Given the description of an element on the screen output the (x, y) to click on. 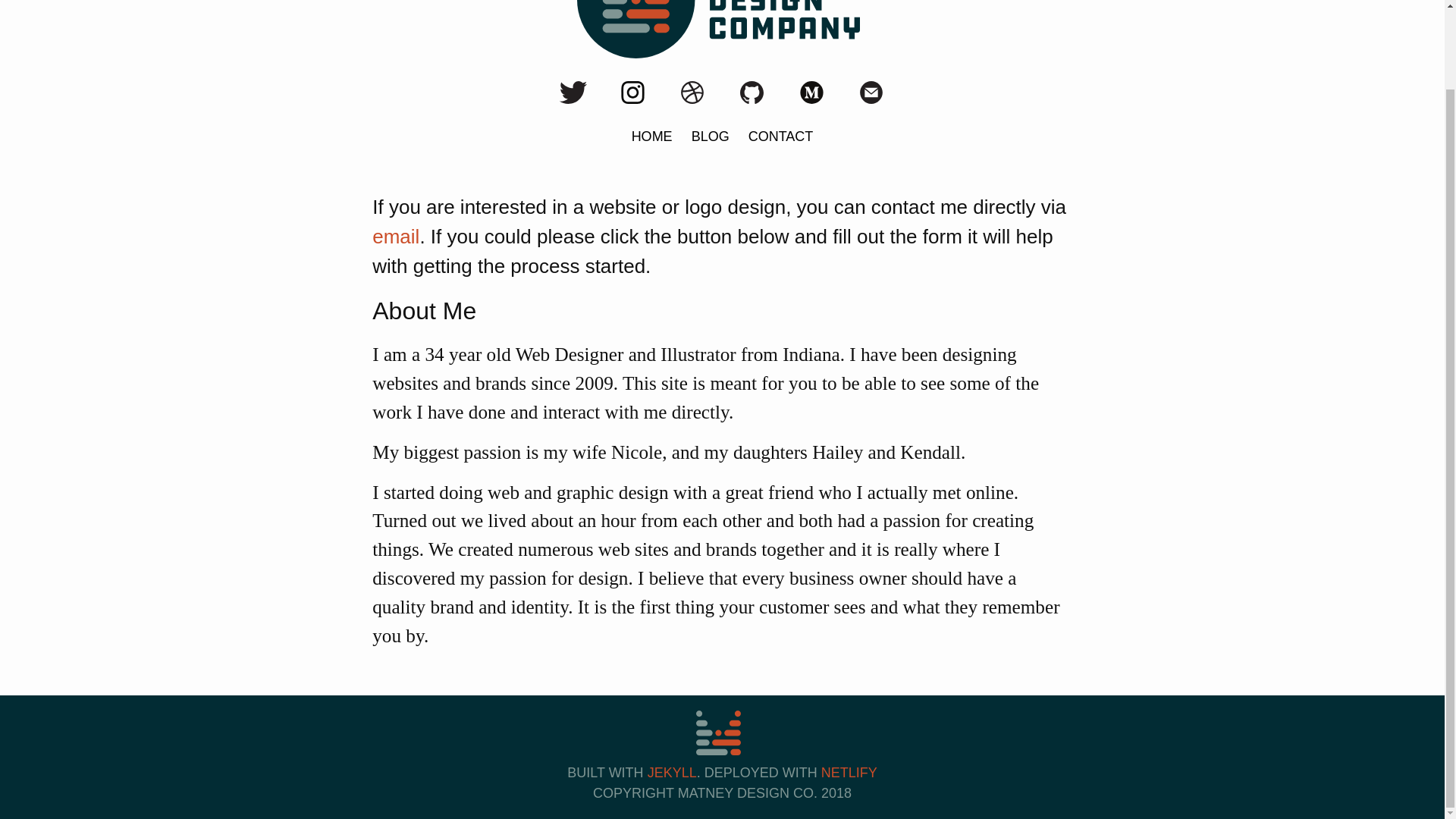
JEKYLL (672, 772)
CONTACT (780, 136)
email (395, 236)
NETLIFY (849, 772)
HOME (651, 136)
BLOG (710, 136)
